Given the description of an element on the screen output the (x, y) to click on. 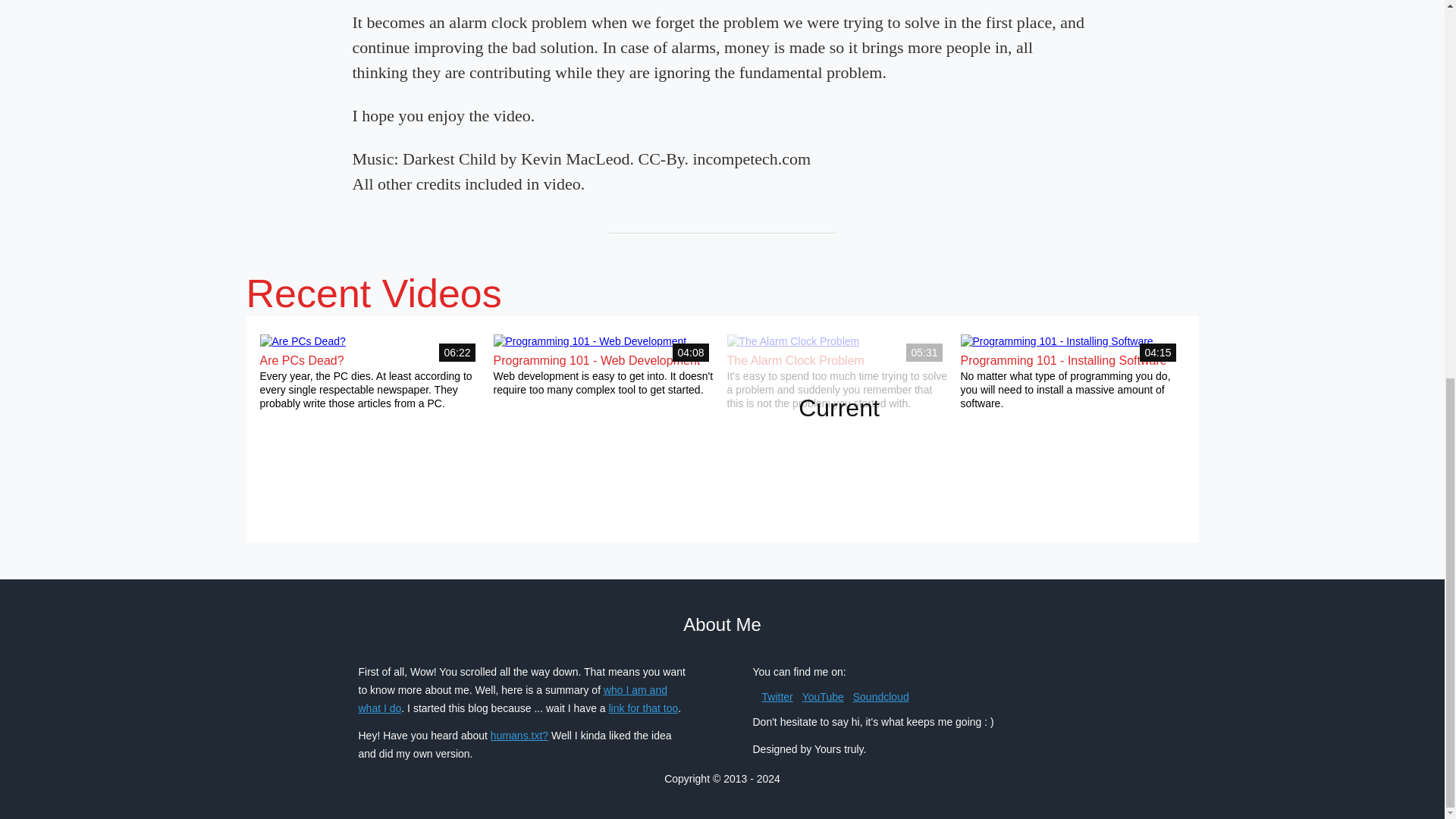
humans.txt? (519, 735)
The Alarm Clock Problem (794, 359)
who I am and what I do (512, 698)
Programming 101 - Web Development (596, 359)
YouTube (823, 696)
04:15 (1056, 340)
Are PCs Dead? (301, 359)
06:22 (302, 340)
link for that too (643, 707)
Twitter (776, 696)
